Given the description of an element on the screen output the (x, y) to click on. 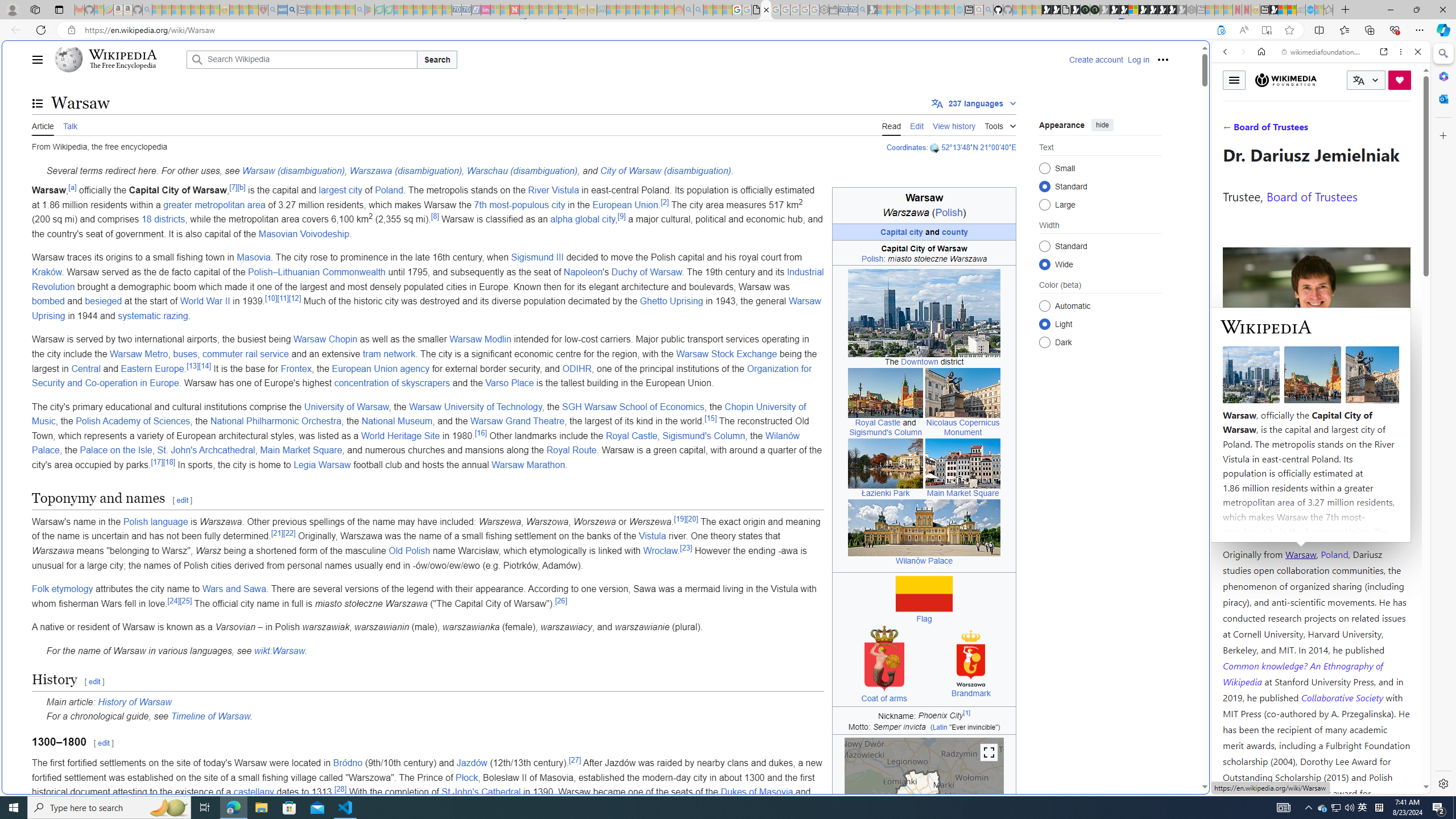
St John's Cathedral (481, 792)
[28] (339, 788)
Flag (923, 619)
Main Market Square (963, 463)
Wikimedia Foundation (1286, 79)
CURRENT LANGUAGE: (1366, 80)
Talk (69, 124)
